Given the description of an element on the screen output the (x, y) to click on. 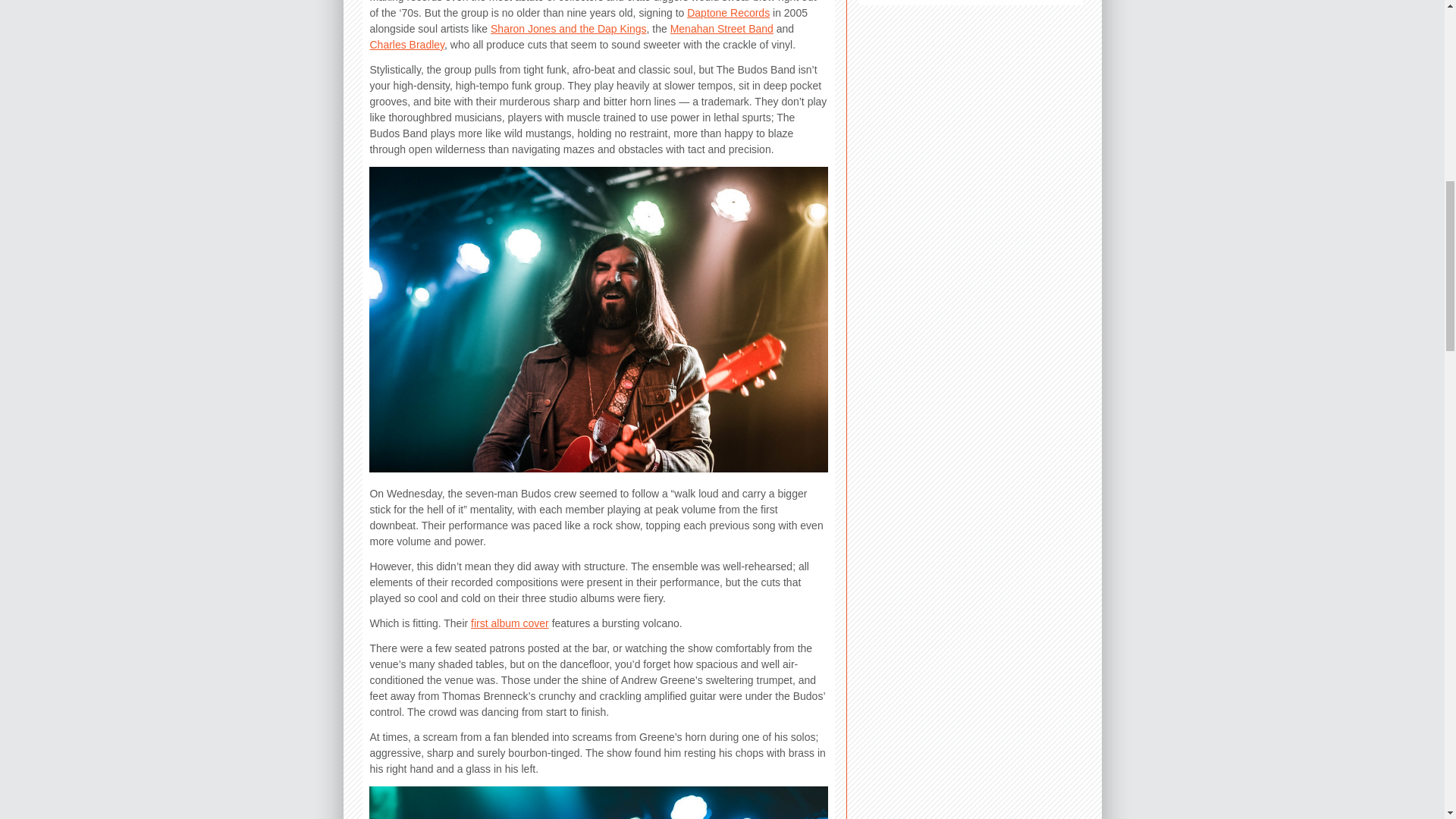
Menahan Street Band (721, 28)
Sharon Jones and the Dap Kings (568, 28)
first album cover (509, 623)
Daptone Records (728, 12)
Charles Bradley (406, 44)
